Given the description of an element on the screen output the (x, y) to click on. 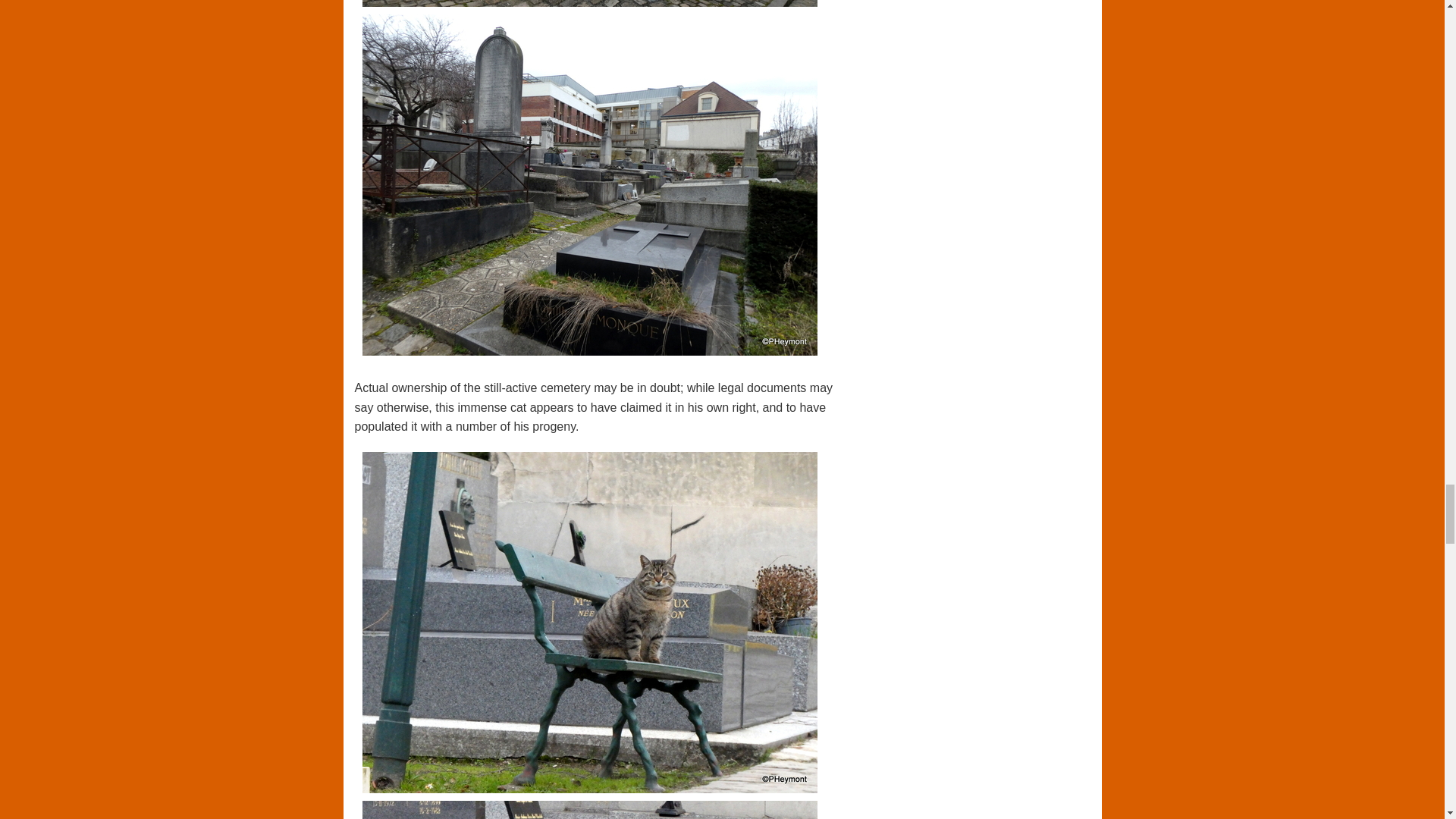
P1210210 (589, 3)
P1210212 (590, 187)
